Given the description of an element on the screen output the (x, y) to click on. 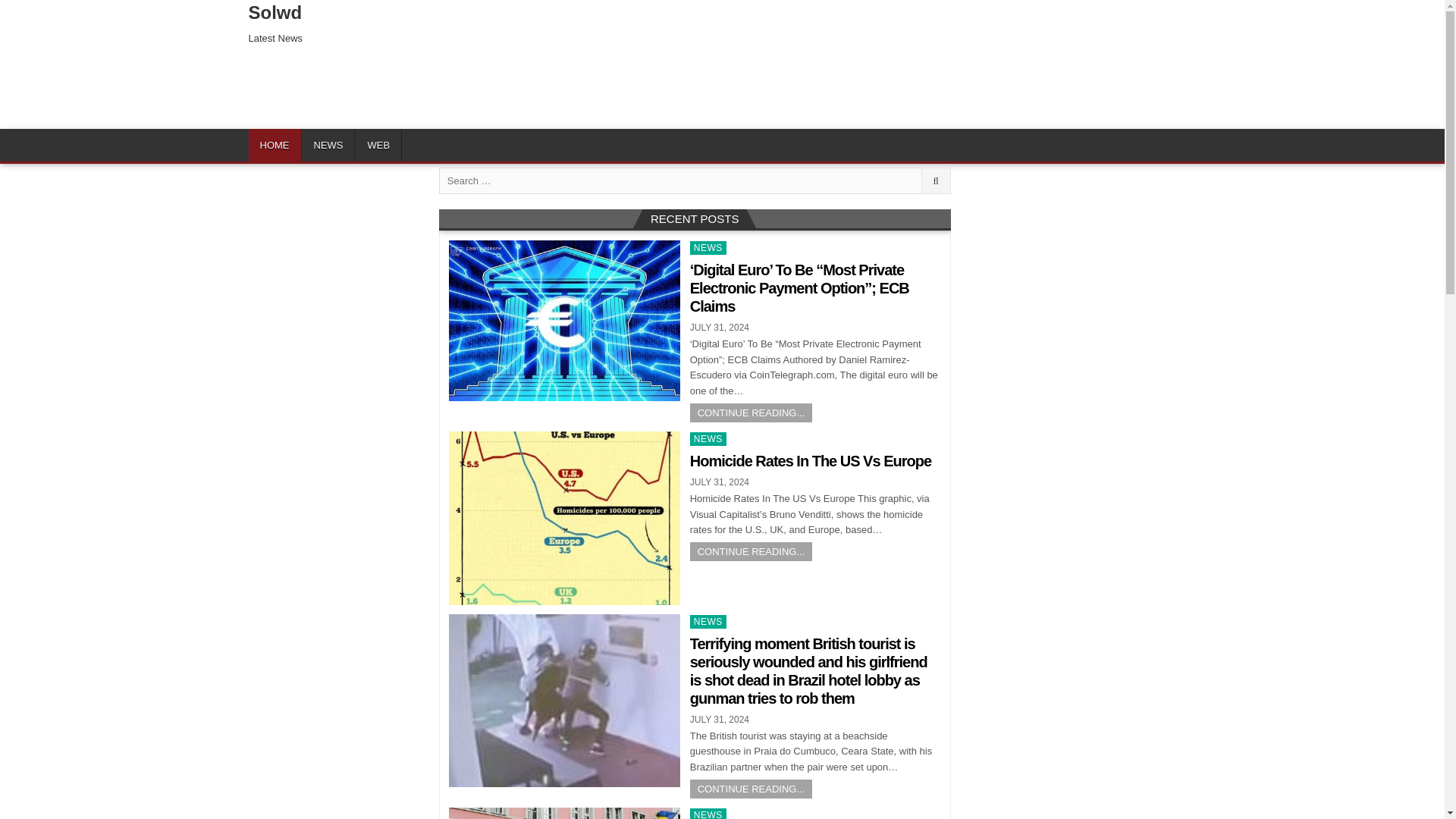
CONTINUE READING... (751, 788)
NEWS (708, 247)
HOME (274, 144)
Solwd (275, 12)
CONTINUE READING... (751, 412)
NEWS (708, 813)
CONTINUE READING... (751, 551)
Permanent Link to Homicide Rates In The US Vs Europe (563, 518)
Homicide Rates In The US Vs Europe (810, 460)
NEWS (328, 144)
NEWS (708, 438)
NEWS (708, 621)
